Given the description of an element on the screen output the (x, y) to click on. 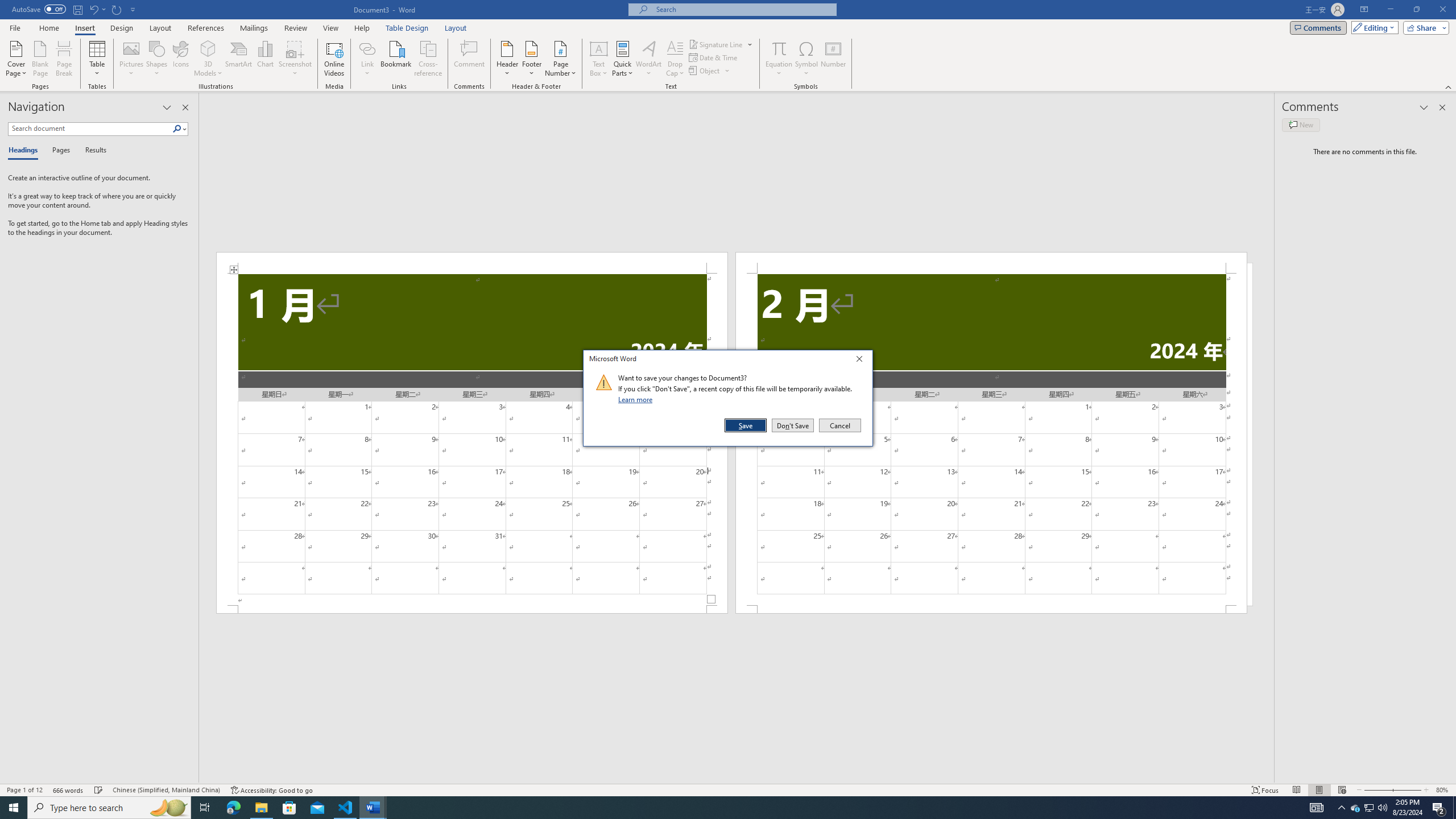
Notification Chevron (1341, 807)
Action Center, 2 new notifications (1439, 807)
User Promoted Notification Area (1368, 807)
Icons (180, 58)
Microsoft Edge (233, 807)
Pictures (131, 58)
Word - 2 running windows (373, 807)
Cancel (839, 425)
Header -Section 2- (991, 263)
Search highlights icon opens search home window (167, 807)
Quick Parts (622, 58)
